Given the description of an element on the screen output the (x, y) to click on. 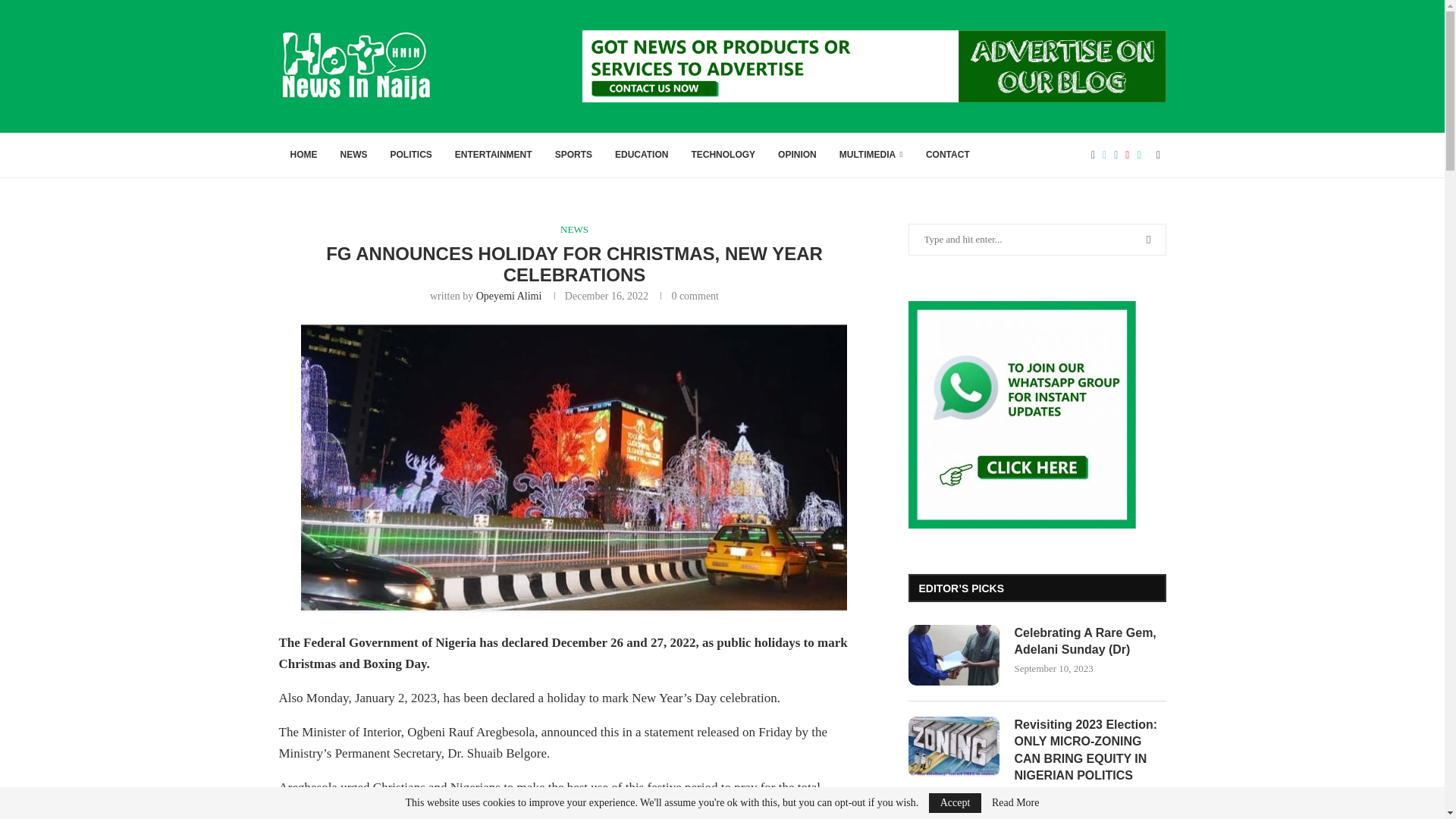
CONTACT (947, 155)
NEWS (353, 155)
ENTERTAINMENT (493, 155)
OPINION (797, 155)
SPORTS (573, 155)
POLITICS (411, 155)
EDUCATION (641, 155)
HOME (304, 155)
NEWS (574, 229)
Opeyemi Alimi (508, 296)
TECHNOLOGY (723, 155)
MULTIMEDIA (871, 155)
